Given the description of an element on the screen output the (x, y) to click on. 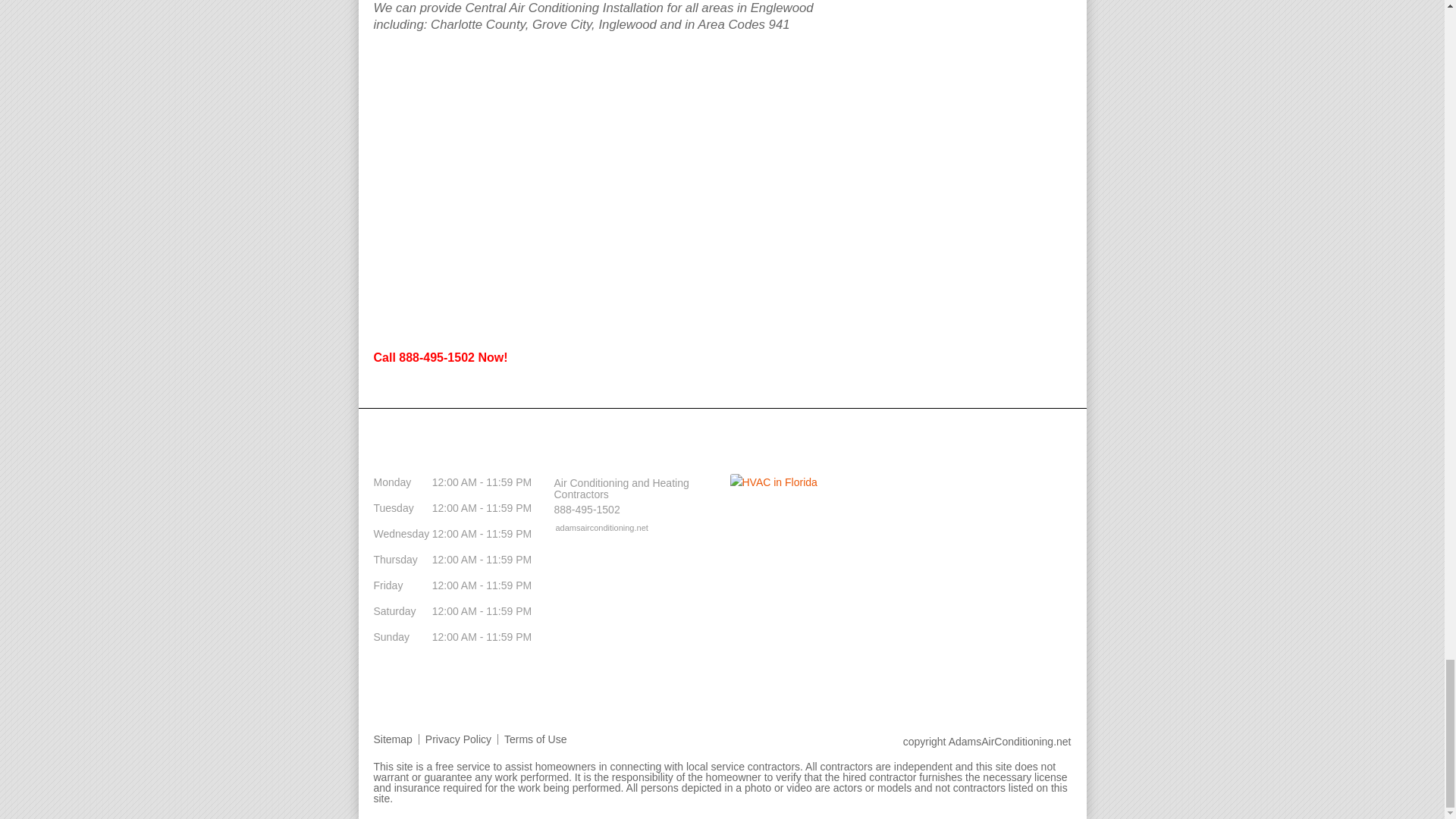
Sitemap (395, 738)
Terms of Use (534, 738)
Privacy Policy (458, 738)
adamsairconditioning.net (593, 526)
Call 888-495-1502 Now! (439, 357)
